Given the description of an element on the screen output the (x, y) to click on. 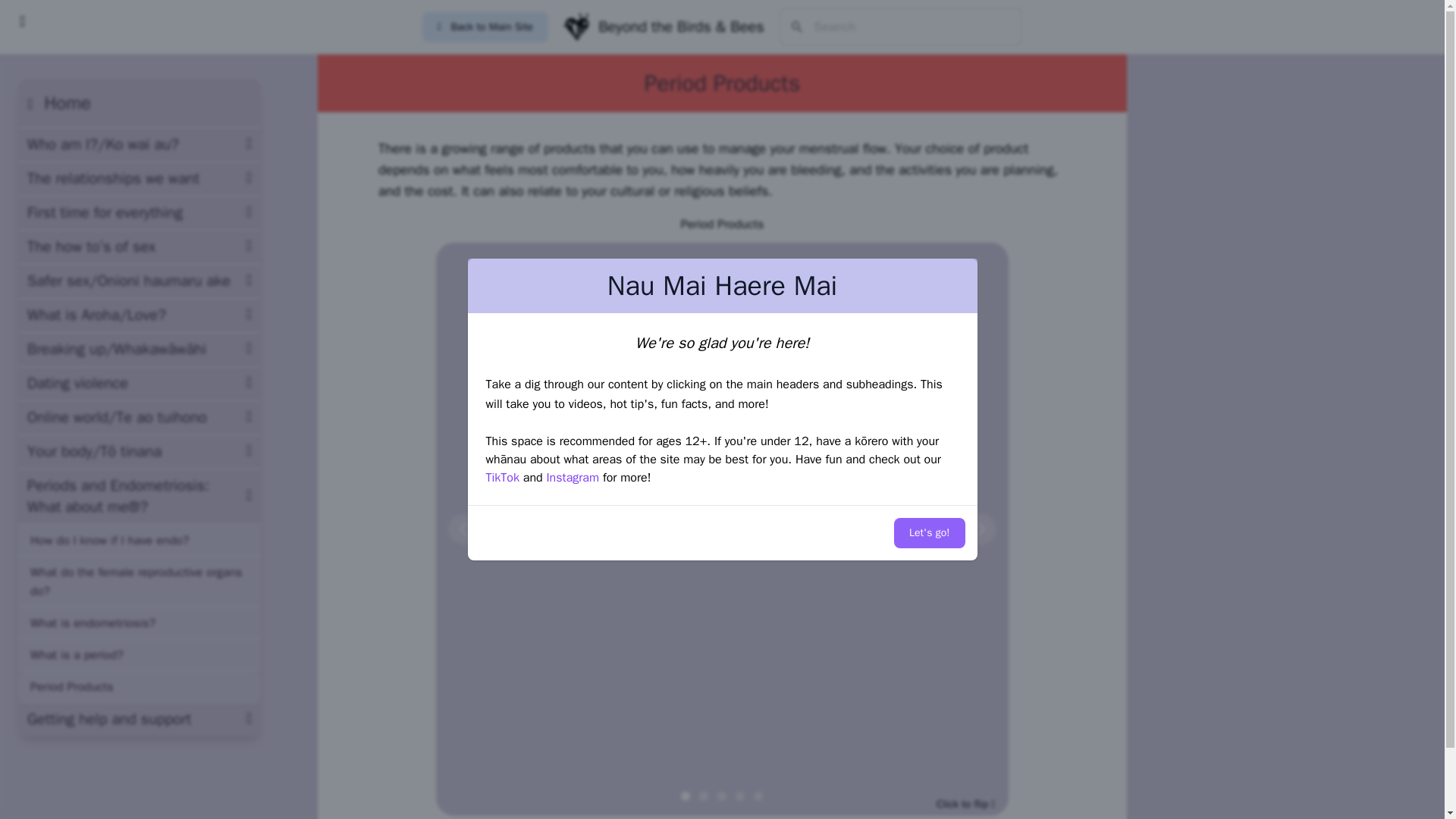
TikTok (501, 477)
Let's go! (928, 532)
Back to Main Site (485, 27)
Instagram (572, 477)
Home (58, 102)
